Given the description of an element on the screen output the (x, y) to click on. 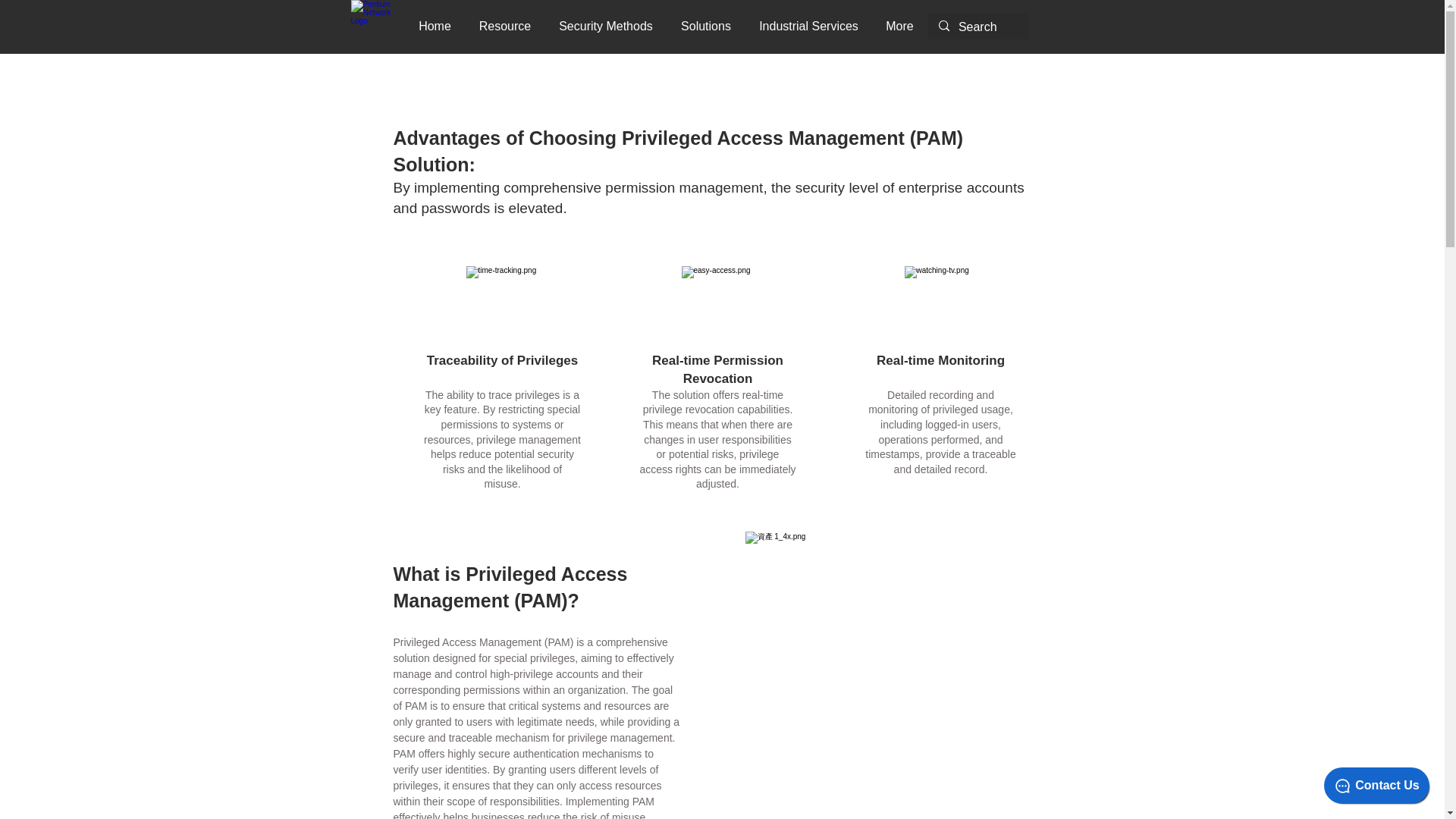
Industrial Services (808, 26)
Contact Us (1376, 785)
Home (434, 26)
